Given the description of an element on the screen output the (x, y) to click on. 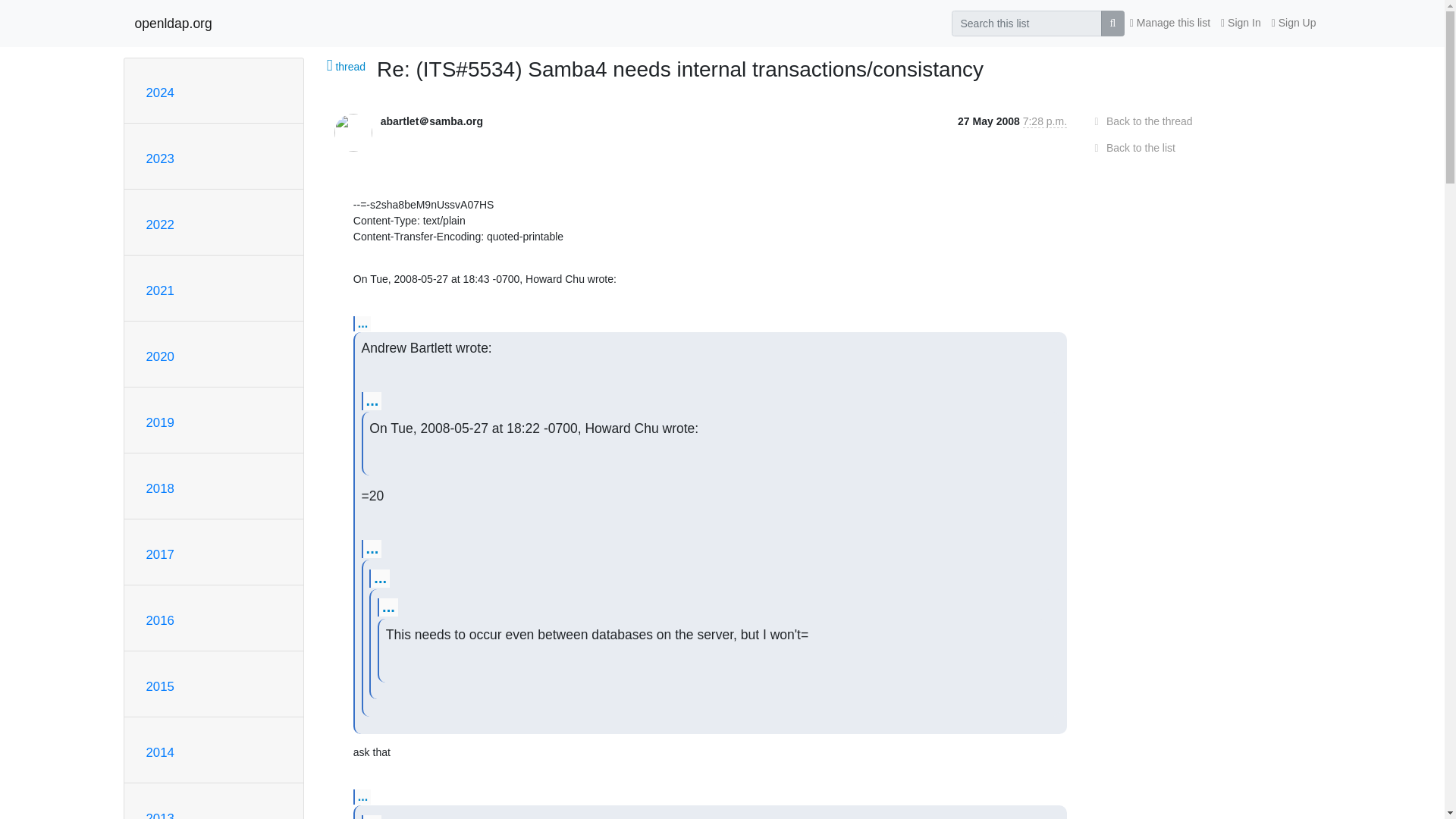
2024 (159, 92)
openldap.org (173, 22)
2023 (159, 158)
Sign In (1240, 22)
Sign Up (1294, 22)
Manage this list (1169, 22)
Sender's time: May 28, 2008, 2:28 a.m. (1045, 121)
2022 (159, 224)
